Given the description of an element on the screen output the (x, y) to click on. 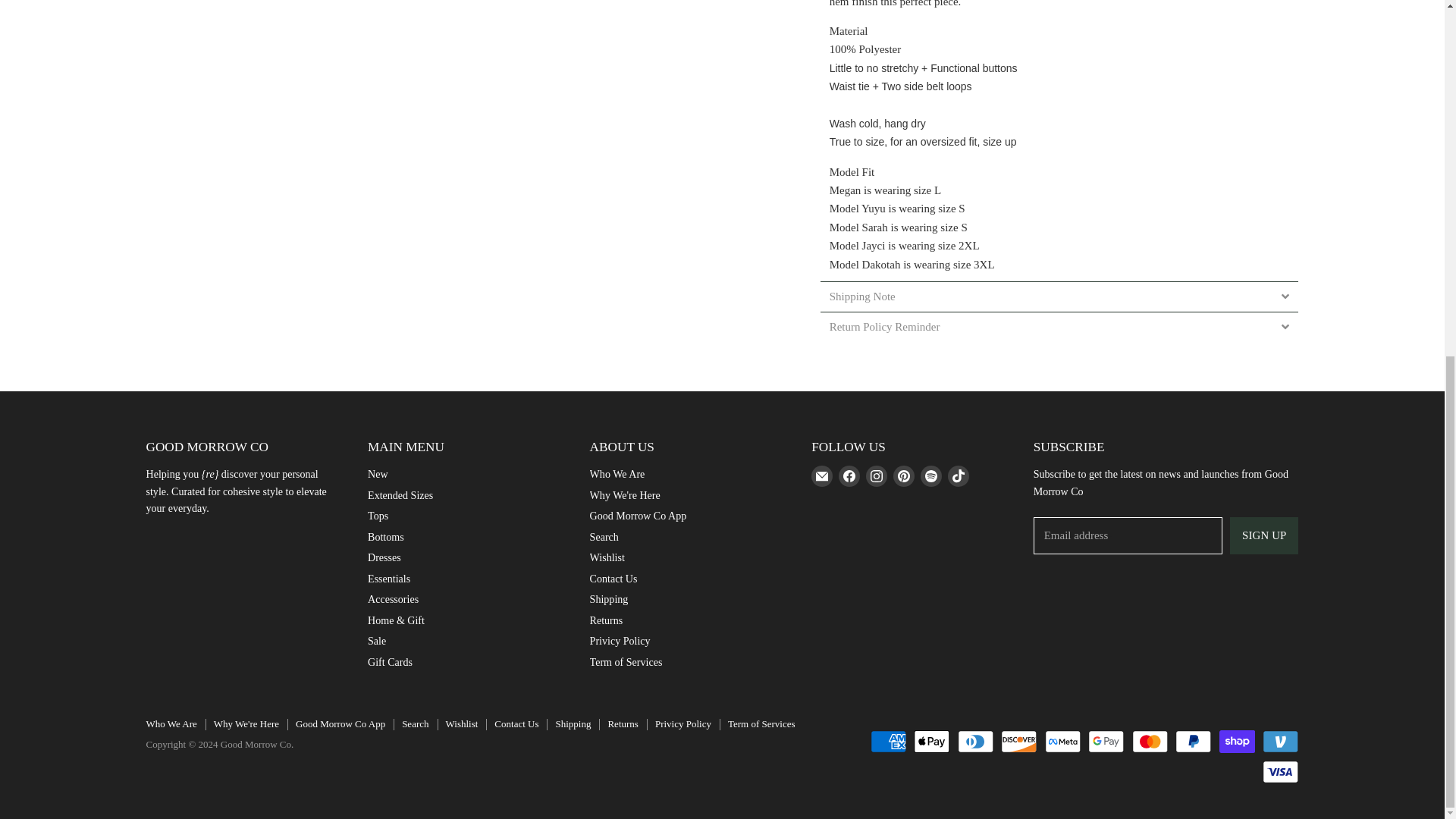
Facebook (849, 475)
Instagram (876, 475)
TikTok (958, 475)
E-mail (821, 475)
Pinterest (903, 475)
Spotify (930, 475)
